Given the description of an element on the screen output the (x, y) to click on. 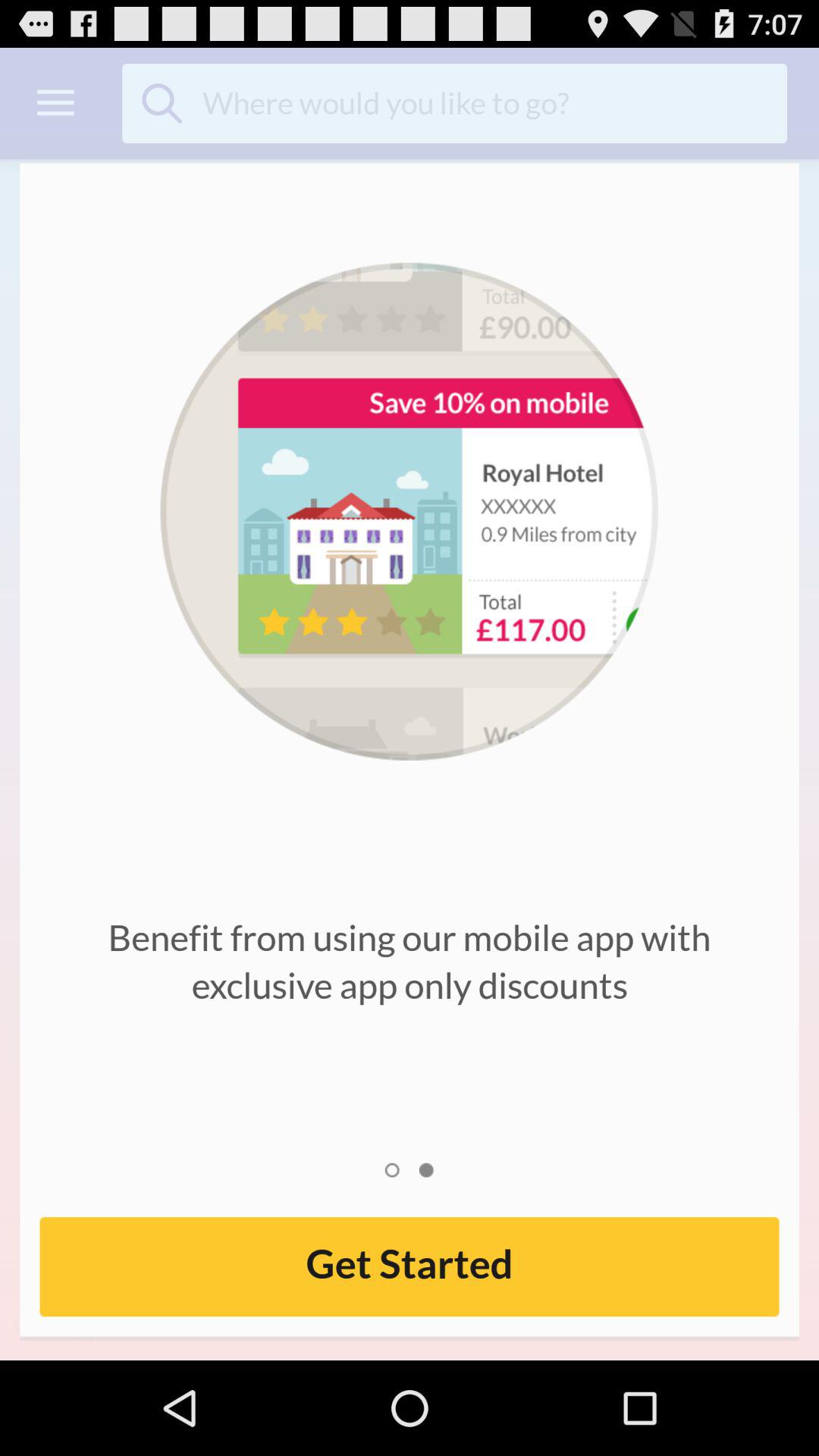
launch get started (409, 1266)
